Given the description of an element on the screen output the (x, y) to click on. 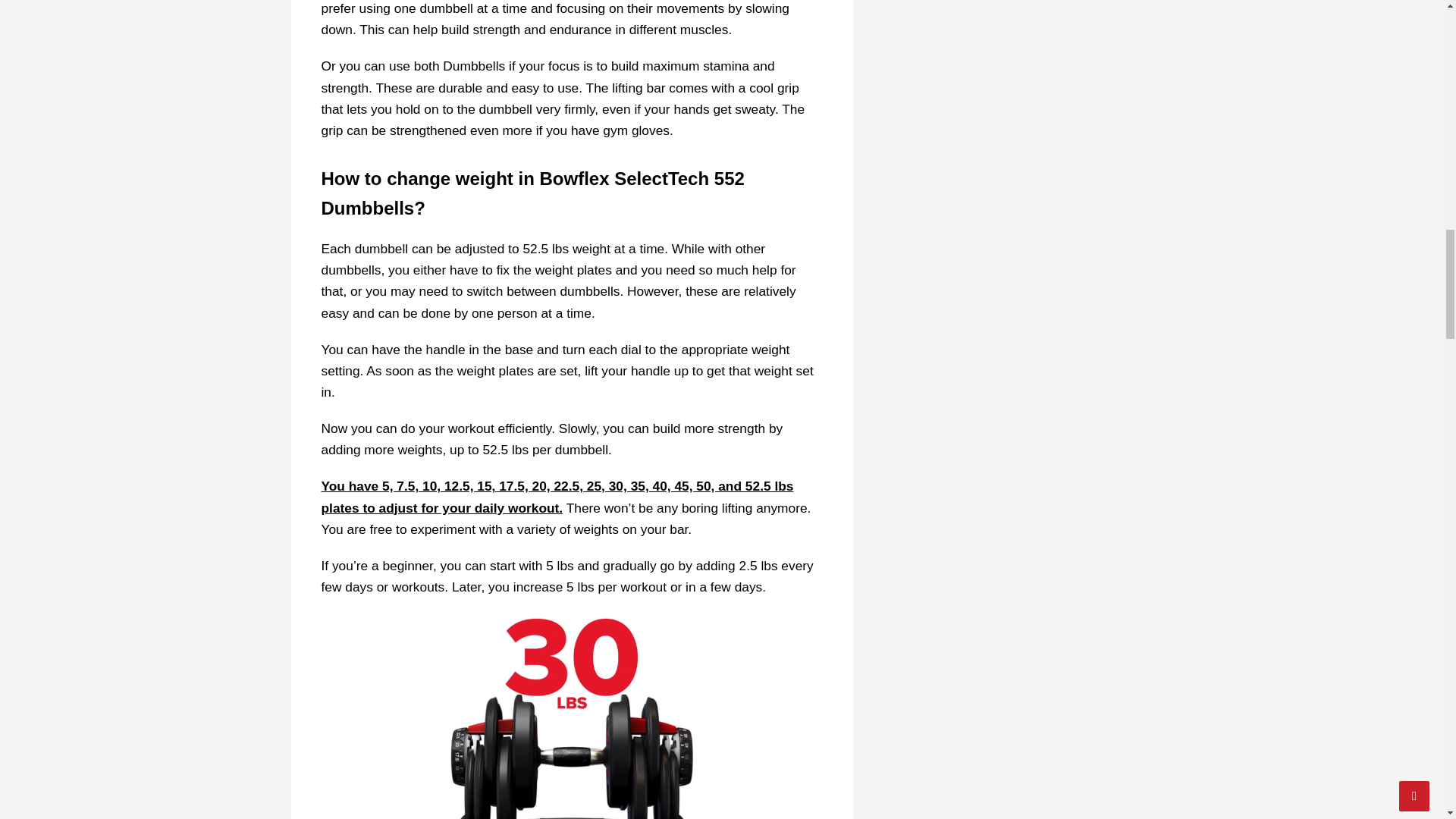
build maximum stamina and strength. (547, 76)
Bowflex Dumbbells Reviews 2 (572, 715)
muscles (704, 29)
